Given the description of an element on the screen output the (x, y) to click on. 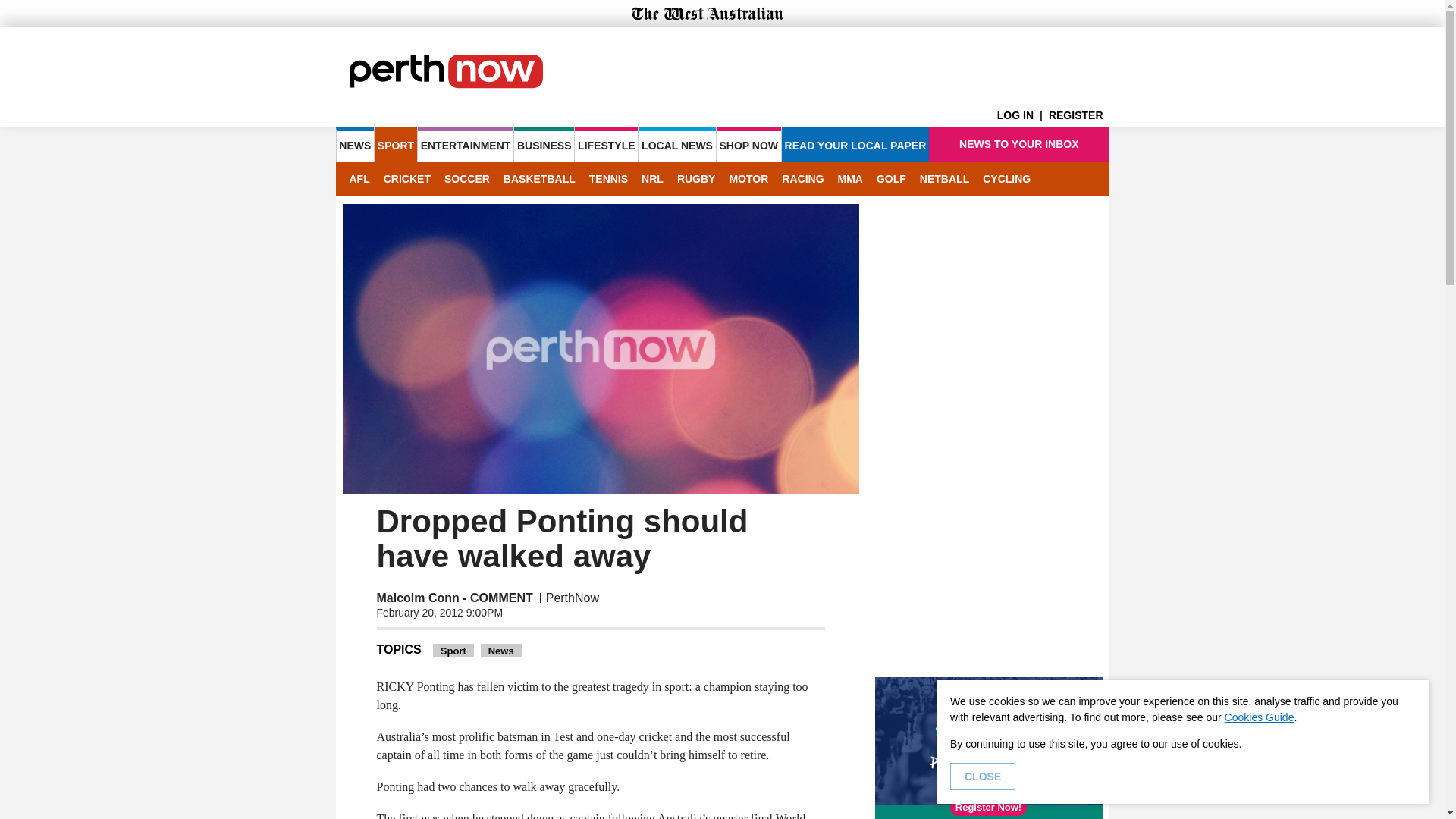
BUSINESS (543, 144)
NEWS (354, 144)
ENTERTAINMENT (465, 144)
SPORT (395, 144)
REGISTER (1078, 115)
LOG IN (1022, 115)
